Given the description of an element on the screen output the (x, y) to click on. 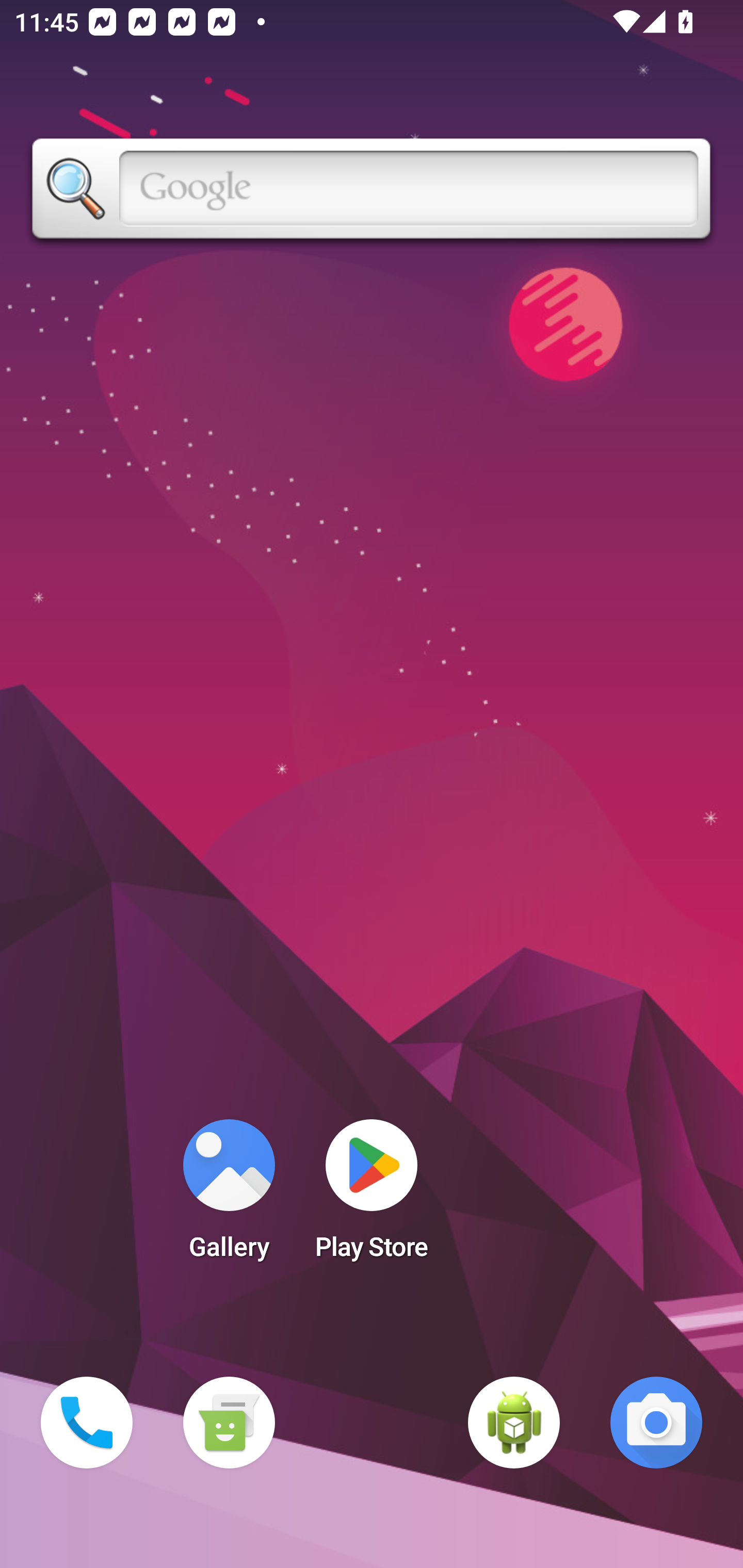
Gallery (228, 1195)
Play Store (371, 1195)
Phone (86, 1422)
Messaging (228, 1422)
WebView Browser Tester (513, 1422)
Camera (656, 1422)
